Given the description of an element on the screen output the (x, y) to click on. 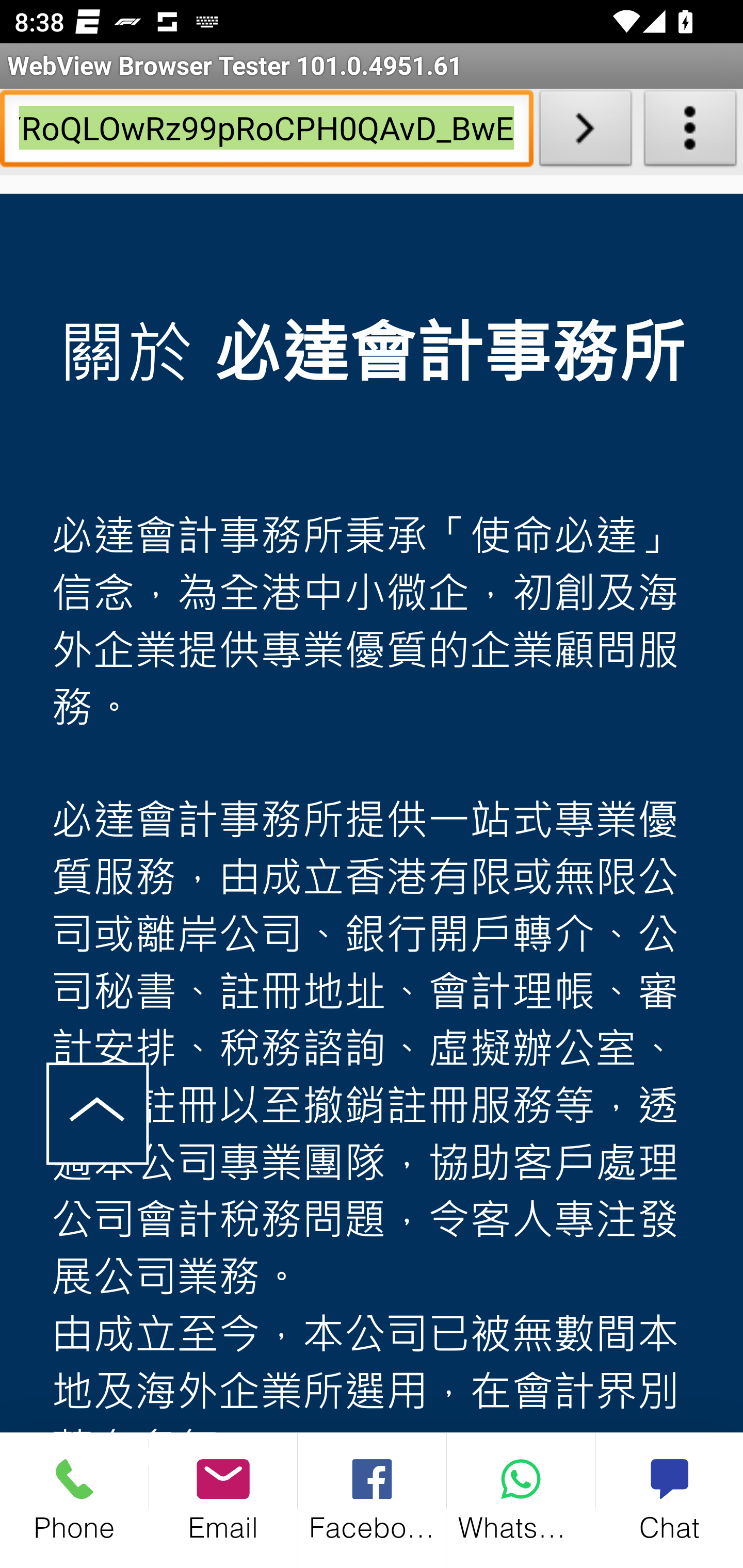
Load URL (585, 132)
About WebView (690, 132)
Phone (74, 1499)
Email (222, 1499)
Facebook (372, 1499)
WhatsApp (520, 1499)
Chat (669, 1499)
